Given the description of an element on the screen output the (x, y) to click on. 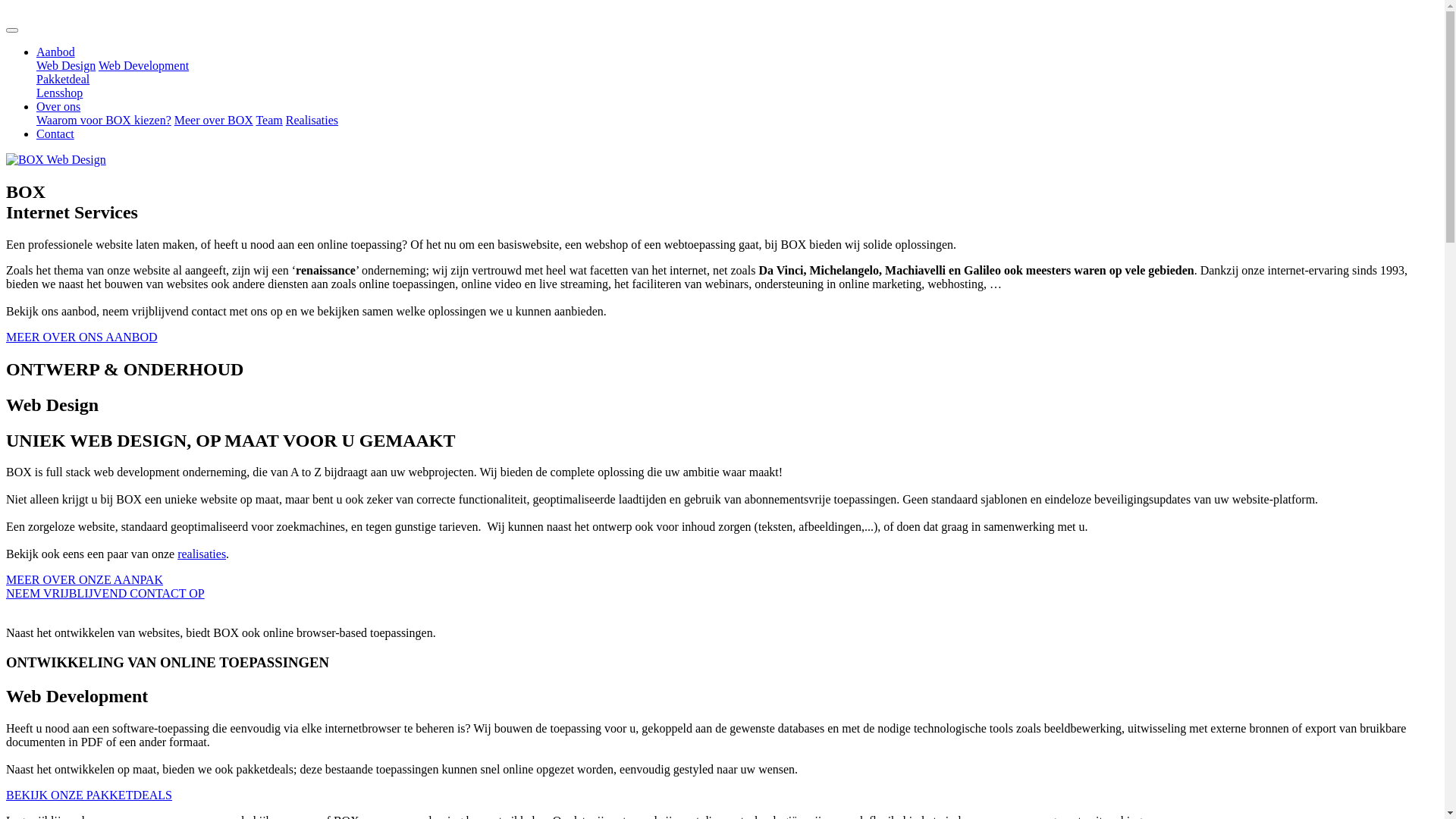
Waarom voor BOX kiezen? Element type: text (103, 119)
Web Development Element type: text (143, 65)
MEER OVER ONZE AANPAK Element type: text (84, 579)
realisaties Element type: text (201, 553)
Over ons Element type: text (58, 106)
NEEM VRIJBLIJVEND CONTACT OP Element type: text (105, 592)
Pakketdeal Element type: text (62, 78)
BEKIJK ONZE PAKKETDEALS Element type: text (89, 794)
MEER OVER ONS AANBOD Element type: text (81, 336)
Lensshop Element type: text (59, 92)
Meer over BOX Element type: text (213, 119)
Contact Element type: text (55, 133)
Aanbod Element type: text (55, 51)
Realisaties Element type: text (311, 119)
Team Element type: text (268, 119)
Web Design Element type: text (65, 65)
